Given the description of an element on the screen output the (x, y) to click on. 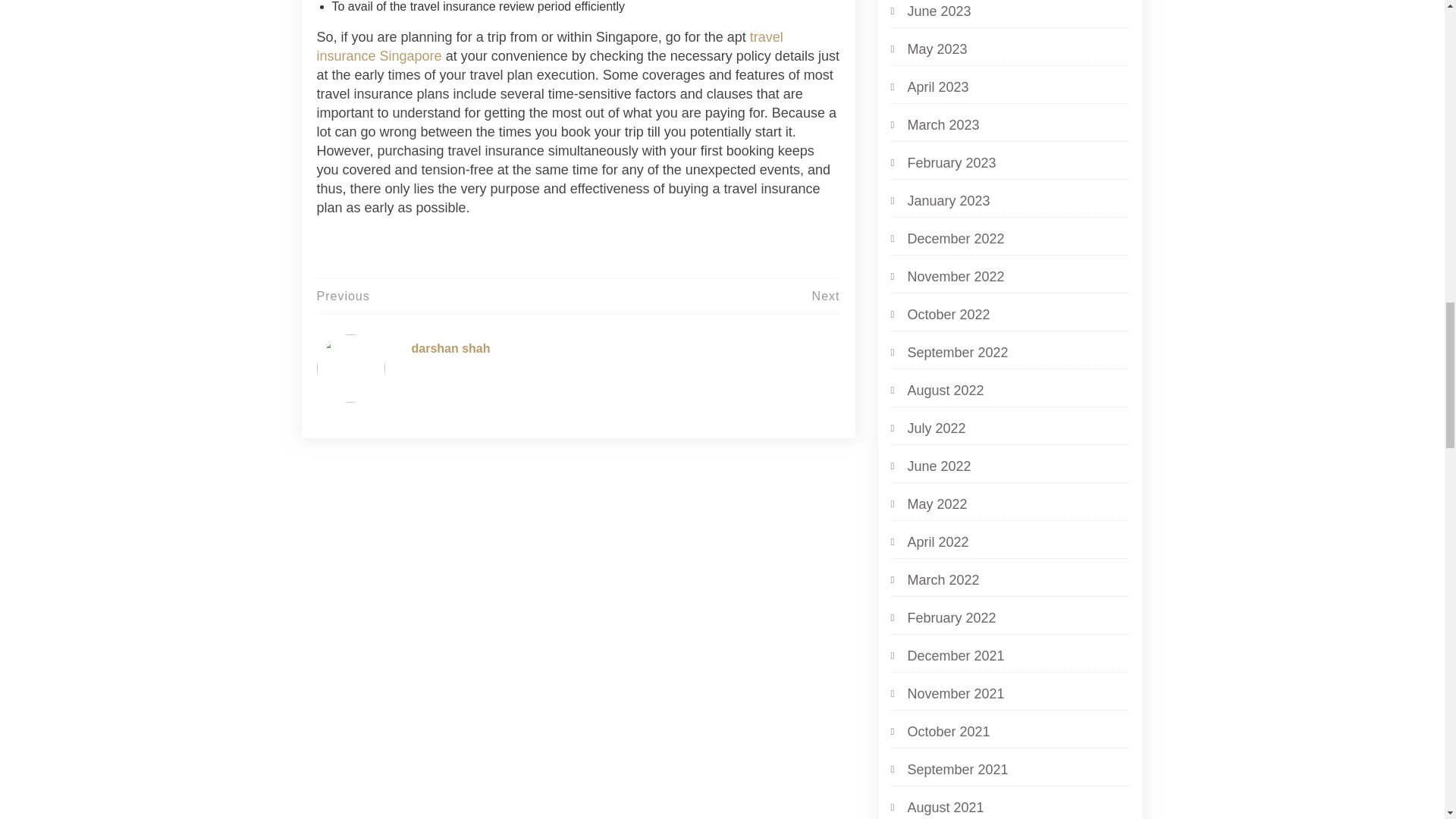
Next (826, 295)
Posts by darshan shah (449, 348)
Previous (343, 295)
travel insurance Singapore (550, 46)
darshan shah (449, 348)
